Given the description of an element on the screen output the (x, y) to click on. 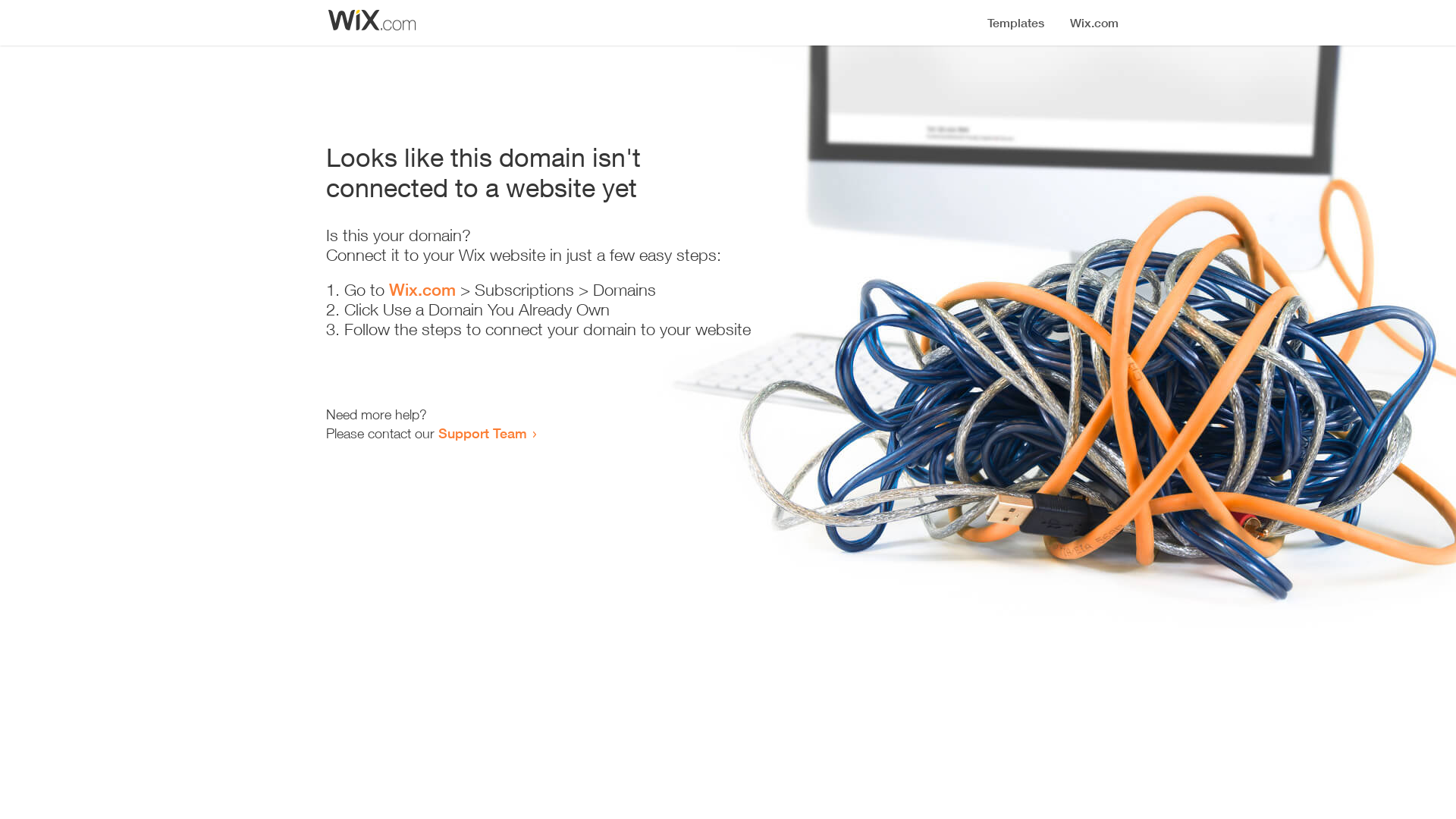
Wix.com Element type: text (422, 289)
Support Team Element type: text (482, 432)
